Given the description of an element on the screen output the (x, y) to click on. 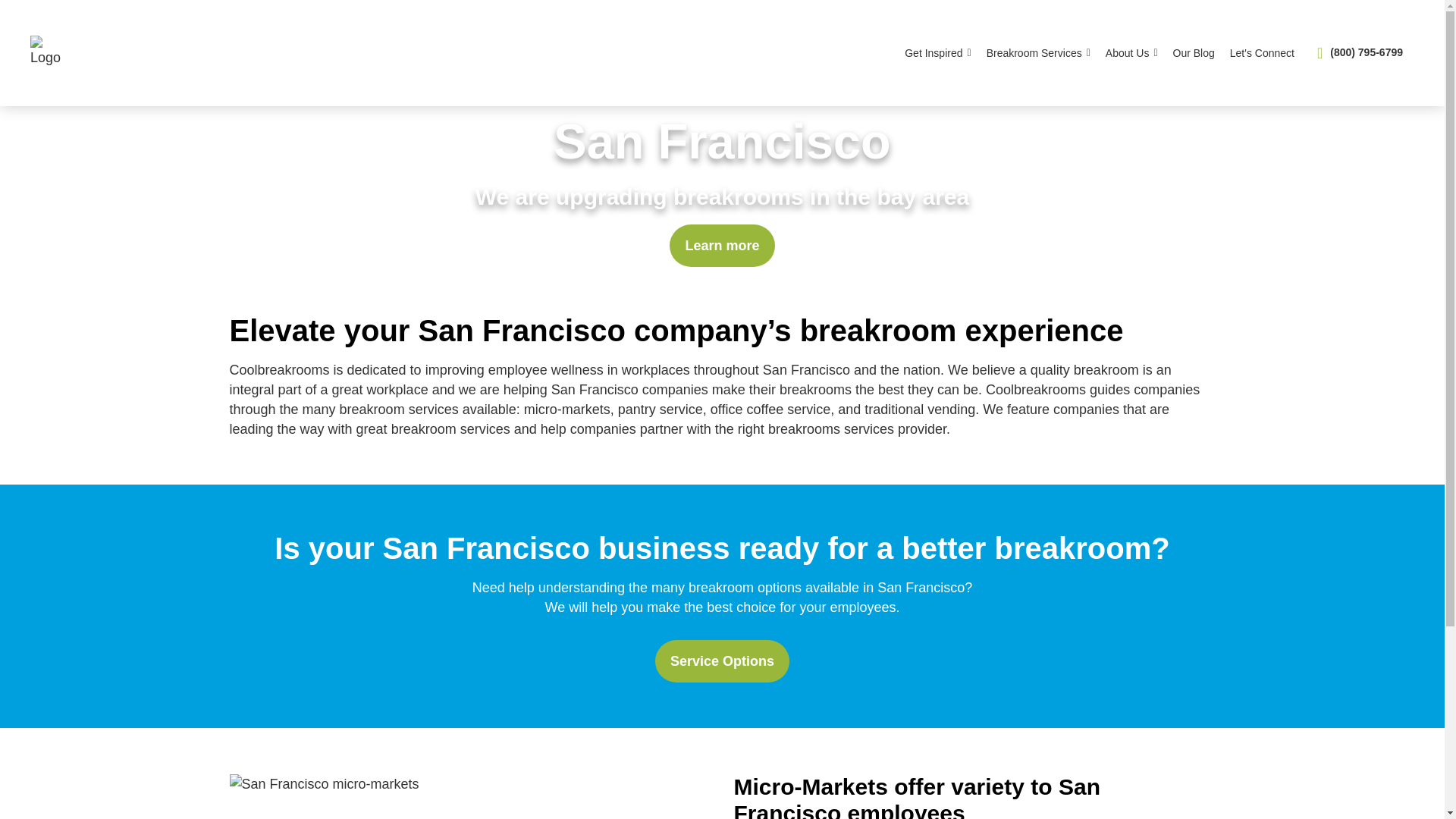
Let's Connect (1262, 52)
Our Blog (1194, 52)
About Us (1131, 52)
Get Inspired (937, 52)
Breakroom Services (1037, 52)
sf-micromarkets (323, 783)
